Given the description of an element on the screen output the (x, y) to click on. 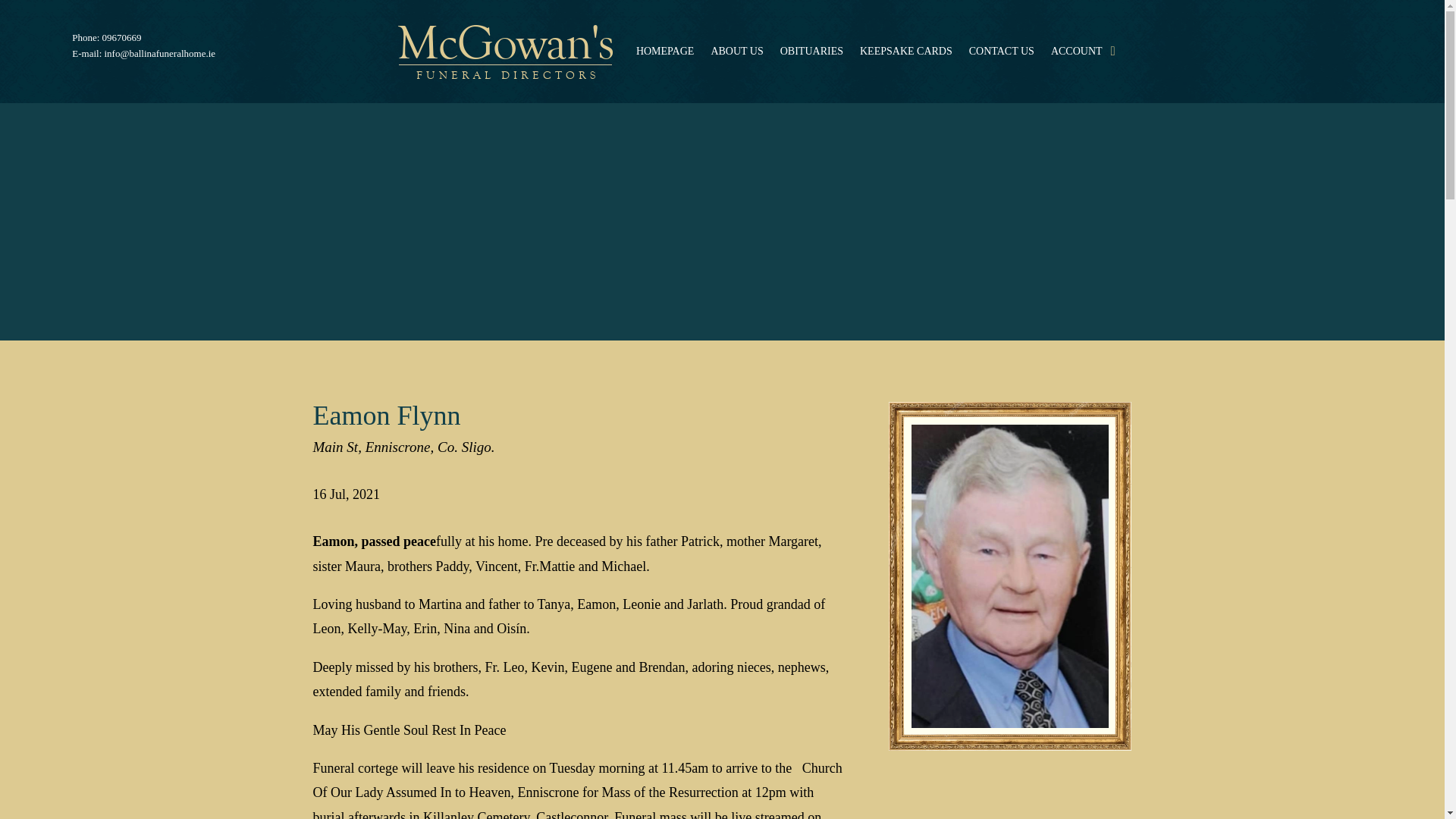
HOMEPAGE (665, 51)
OBITUARIES (811, 51)
ABOUT US (736, 51)
CONTACT US (1001, 51)
KEEPSAKE CARDS (906, 51)
ACCOUNT (1076, 51)
